Given the description of an element on the screen output the (x, y) to click on. 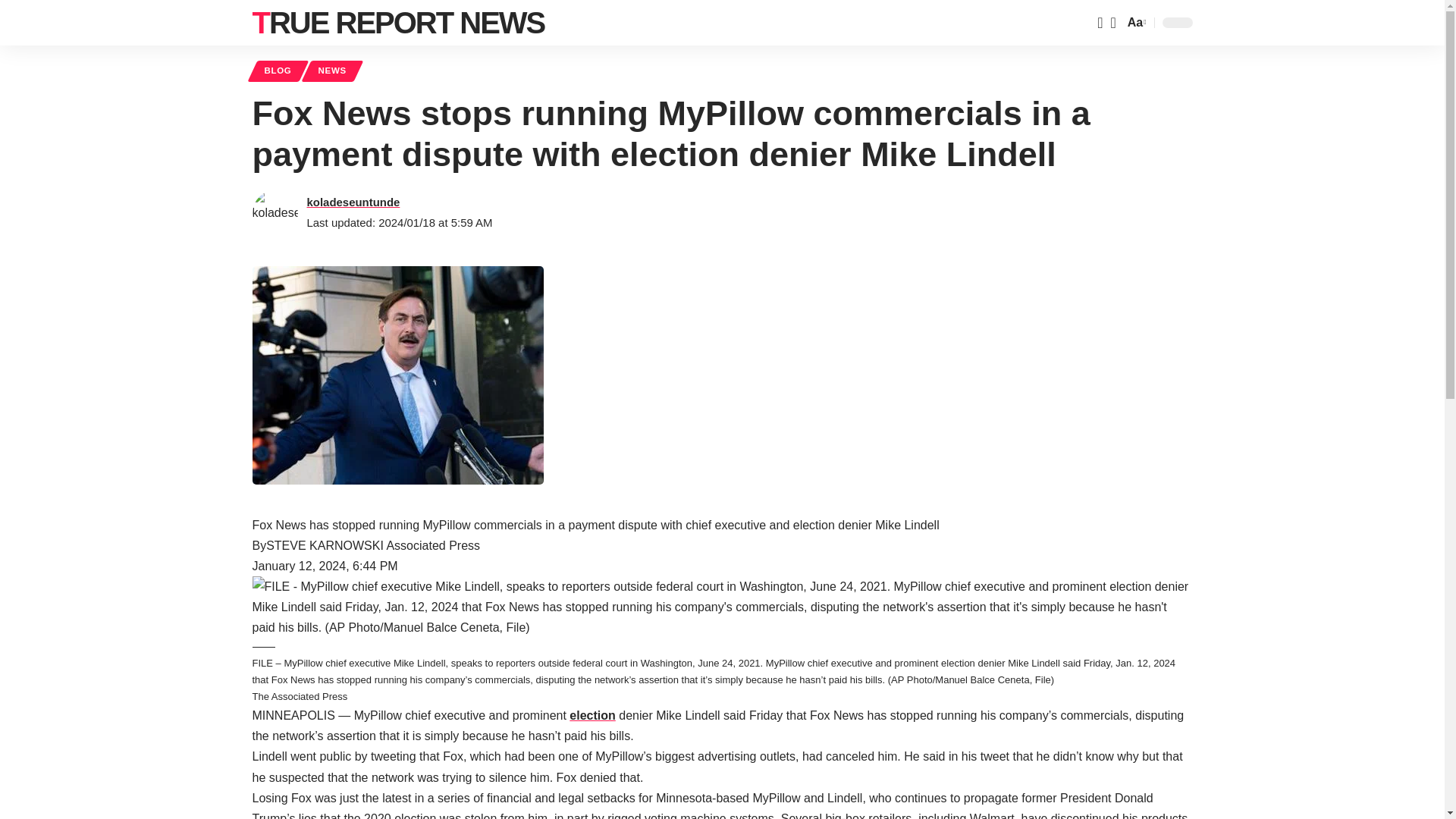
True Report News (397, 22)
NEWS (331, 70)
election (591, 715)
koladeseuntunde (351, 201)
BLOG (276, 70)
Aa (1135, 22)
TRUE REPORT NEWS (397, 22)
